Given the description of an element on the screen output the (x, y) to click on. 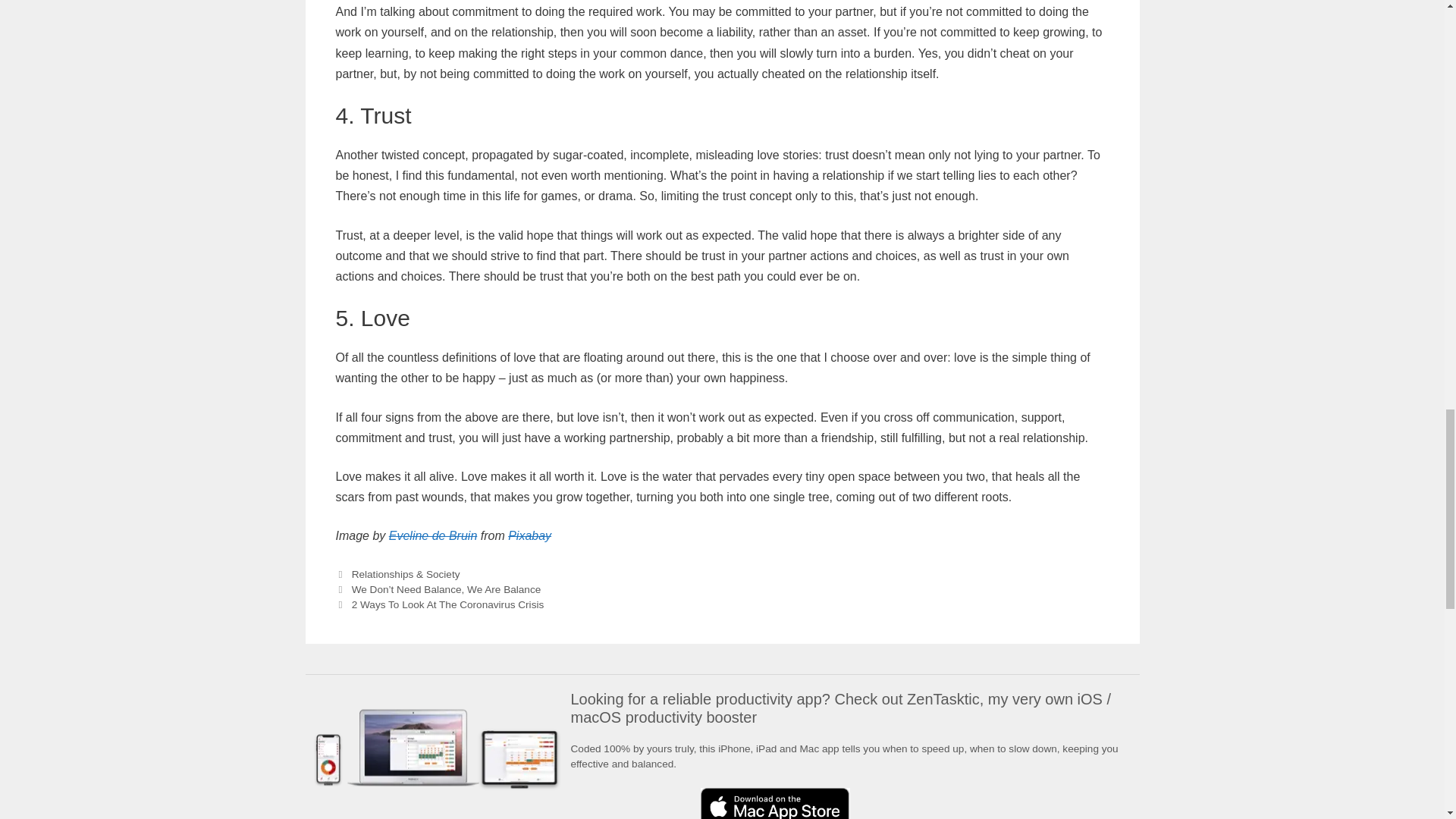
Pixabay (529, 535)
Previous (437, 589)
Eveline de Bruin (432, 535)
2 Ways To Look At The Coronavirus Crisis (448, 604)
Next (438, 604)
